Given the description of an element on the screen output the (x, y) to click on. 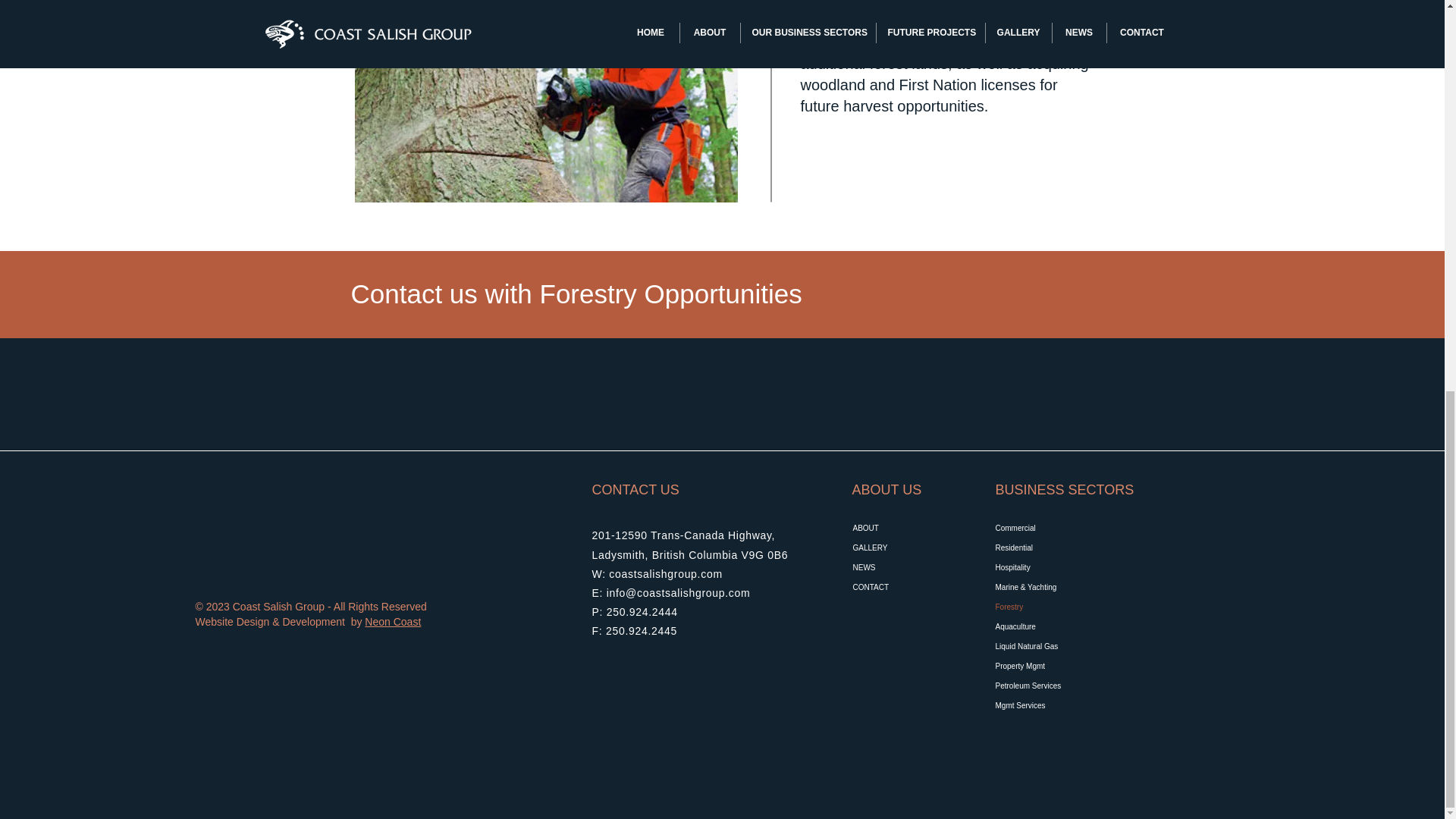
NEWS (905, 567)
250.924.2445 (641, 630)
Aquaculture (1048, 627)
GALLERY (905, 547)
Hospitality (1048, 567)
CONTACT (905, 587)
Liquid Natural Gas (1048, 646)
Property Mgmt (1048, 666)
Commercial (1048, 528)
Residential (1048, 547)
250.924.2444 (642, 612)
ABOUT (905, 528)
Forestry (1048, 607)
coastsalishgroup.com (665, 573)
Neon Coast (392, 621)
